Given the description of an element on the screen output the (x, y) to click on. 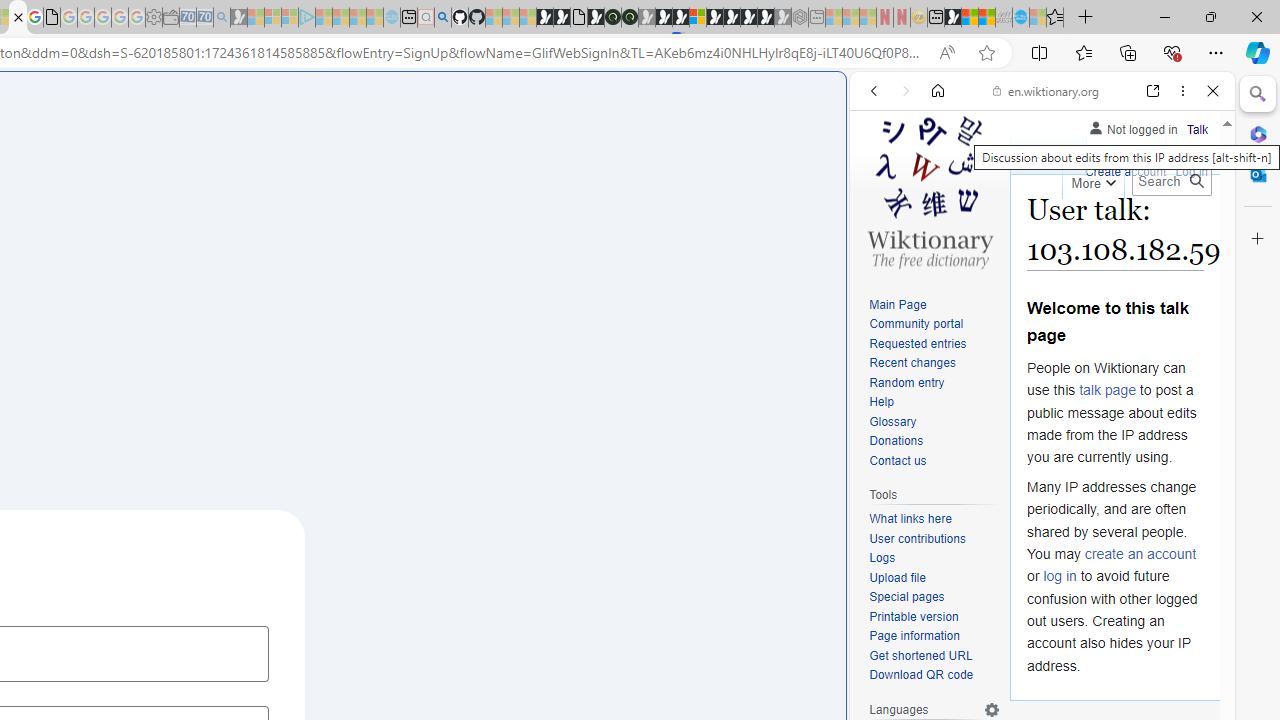
Create account (1125, 169)
Upload file (897, 577)
What links here (910, 519)
Page information (914, 636)
